Given the description of an element on the screen output the (x, y) to click on. 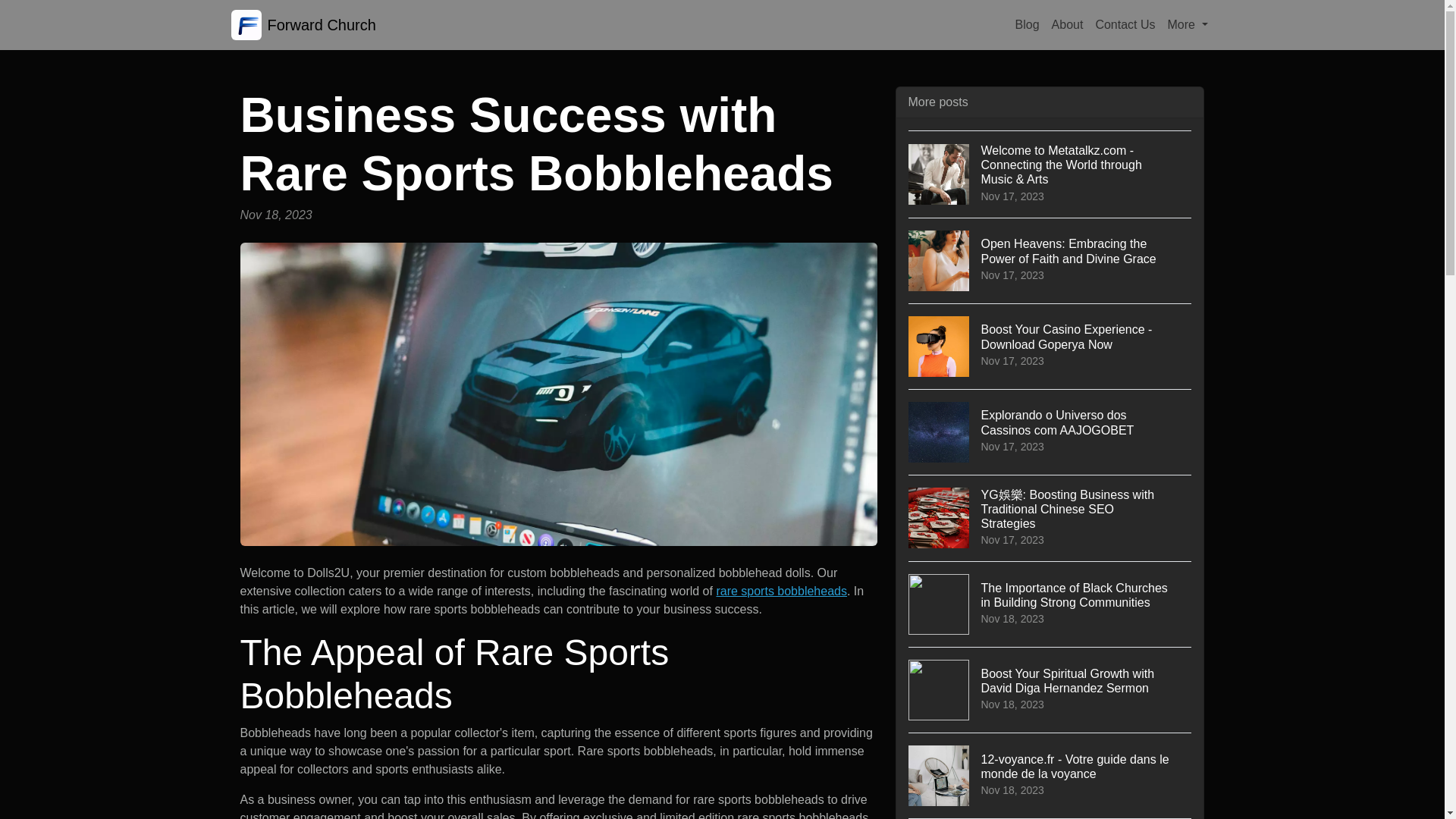
About (1067, 24)
Forward Church (302, 24)
Blog (1027, 24)
rare sports bobbleheads (781, 590)
